Given the description of an element on the screen output the (x, y) to click on. 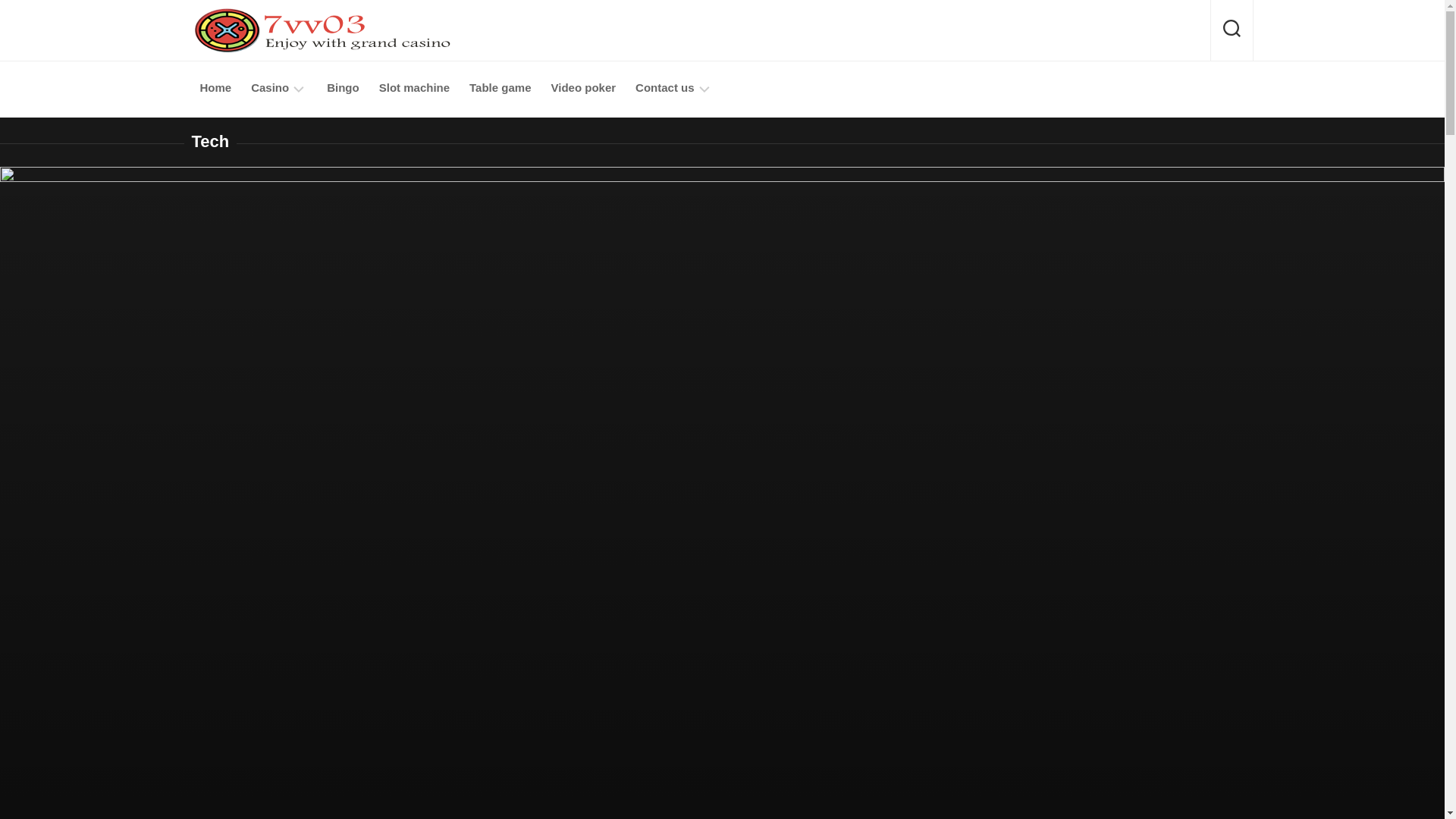
Table game (499, 87)
Bingo (342, 87)
Video poker (582, 87)
Contact us (664, 87)
Casino (269, 87)
Tech (209, 140)
Slot machine (413, 87)
Home (215, 87)
